Given the description of an element on the screen output the (x, y) to click on. 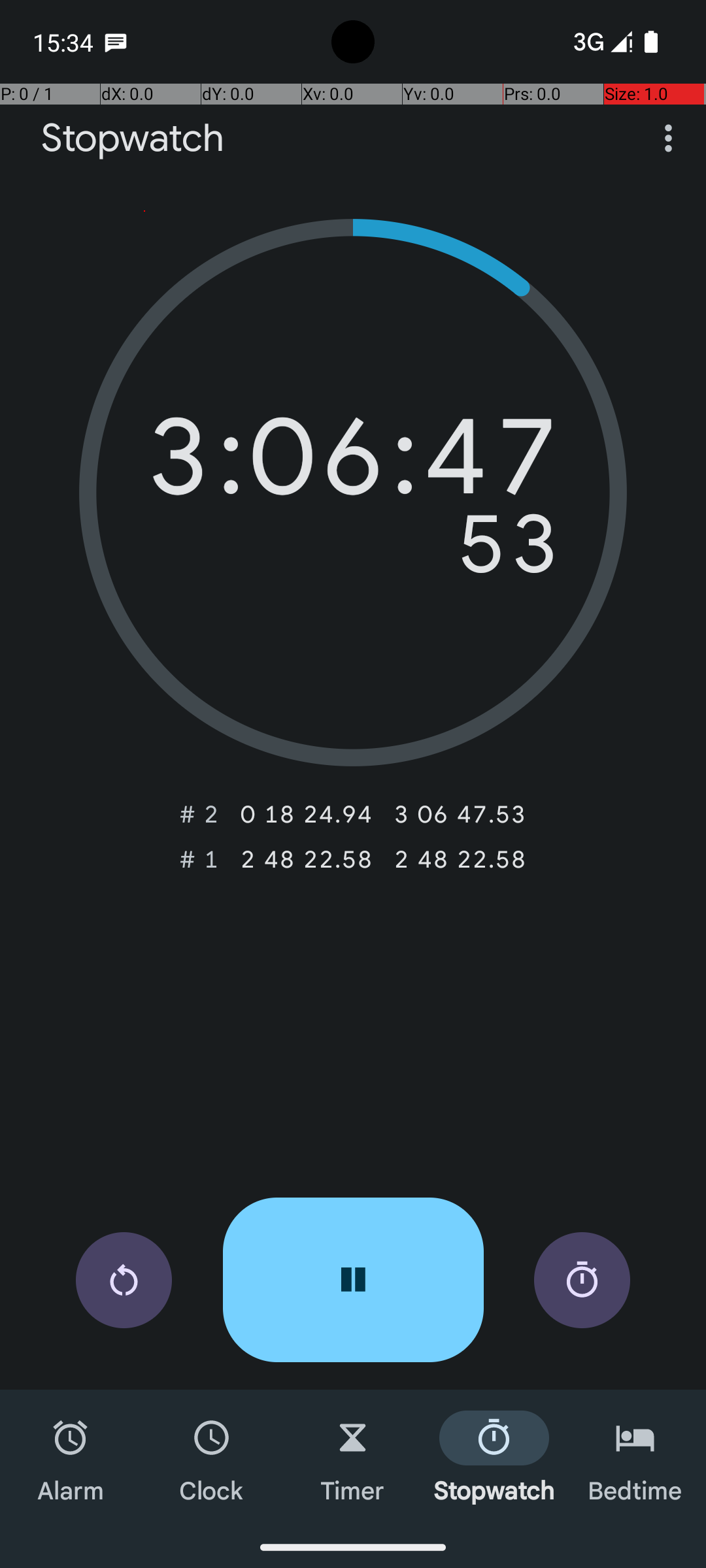
3:06:47 Element type: android.widget.TextView (352, 462)
# 2 Element type: android.widget.TextView (198, 814)
0‎ 18‎ 24.94 Element type: android.widget.TextView (305, 814)
3‎ 06‎ 47.53 Element type: android.widget.TextView (459, 814)
# 1 Element type: android.widget.TextView (198, 859)
2‎ 48‎ 22.58 Element type: android.widget.TextView (305, 859)
